Given the description of an element on the screen output the (x, y) to click on. 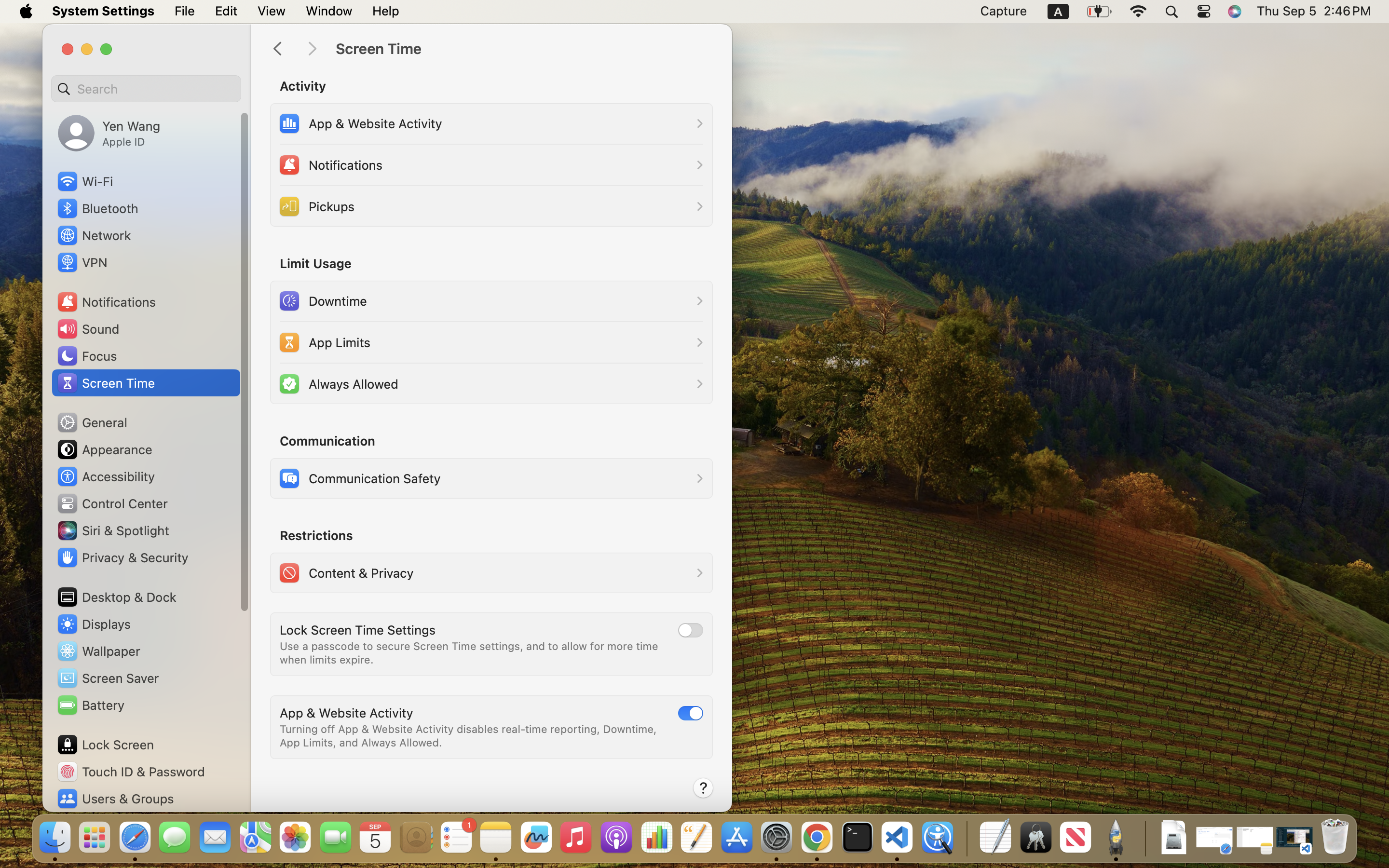
Screen Saver Element type: AXStaticText (107, 677)
Network Element type: AXStaticText (93, 234)
Appearance Element type: AXStaticText (103, 449)
Lock Screen Element type: AXStaticText (104, 744)
Siri & Spotlight Element type: AXStaticText (111, 530)
